Given the description of an element on the screen output the (x, y) to click on. 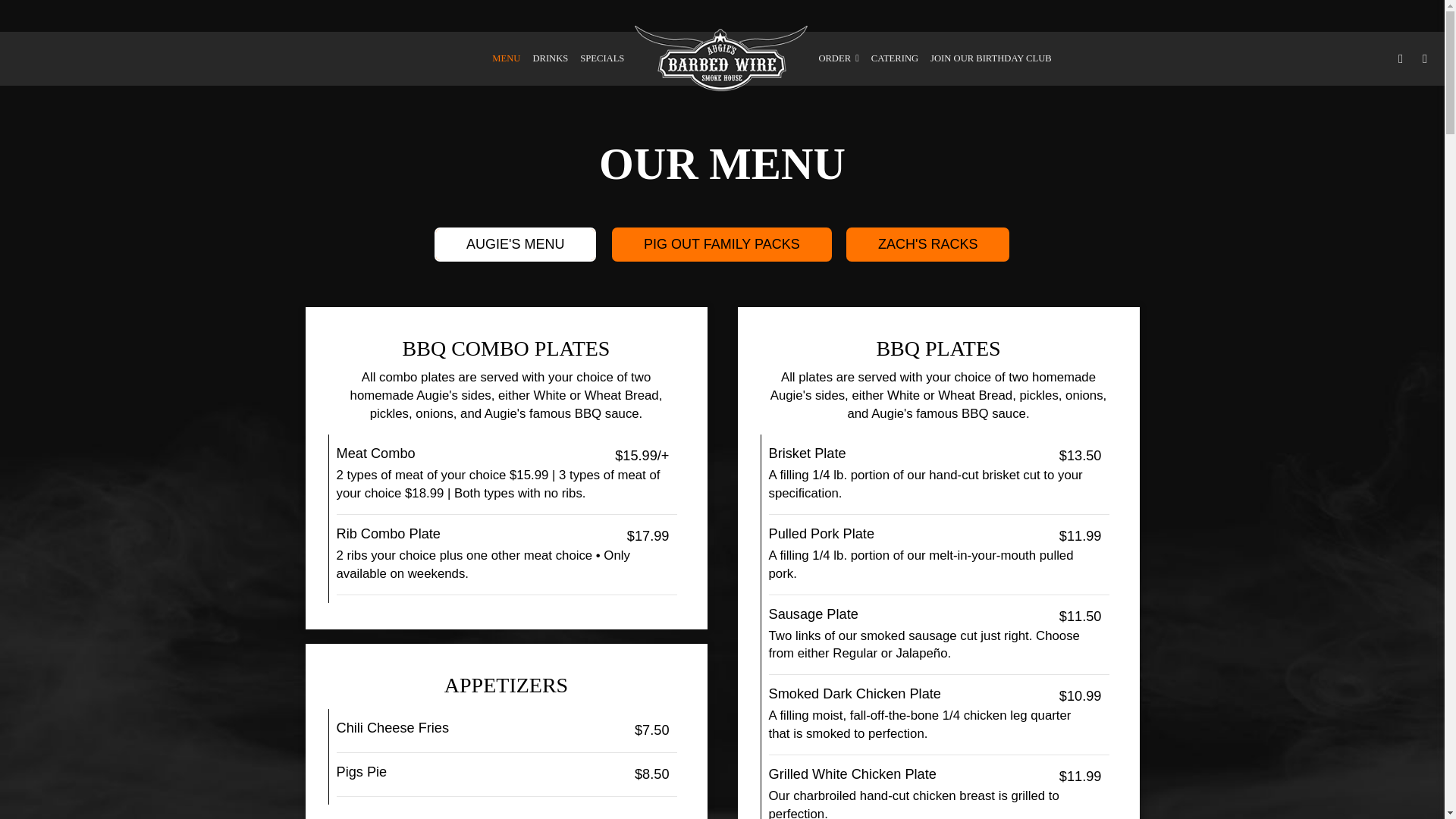
DRINKS (549, 58)
ZACH'S RACKS (927, 244)
AUGIE'S MENU (514, 244)
SPECIALS (601, 58)
CATERING (894, 58)
ORDER (838, 58)
JOIN OUR BIRTHDAY CLUB (991, 58)
MENU (505, 58)
PIG OUT FAMILY PACKS (721, 244)
